Given the description of an element on the screen output the (x, y) to click on. 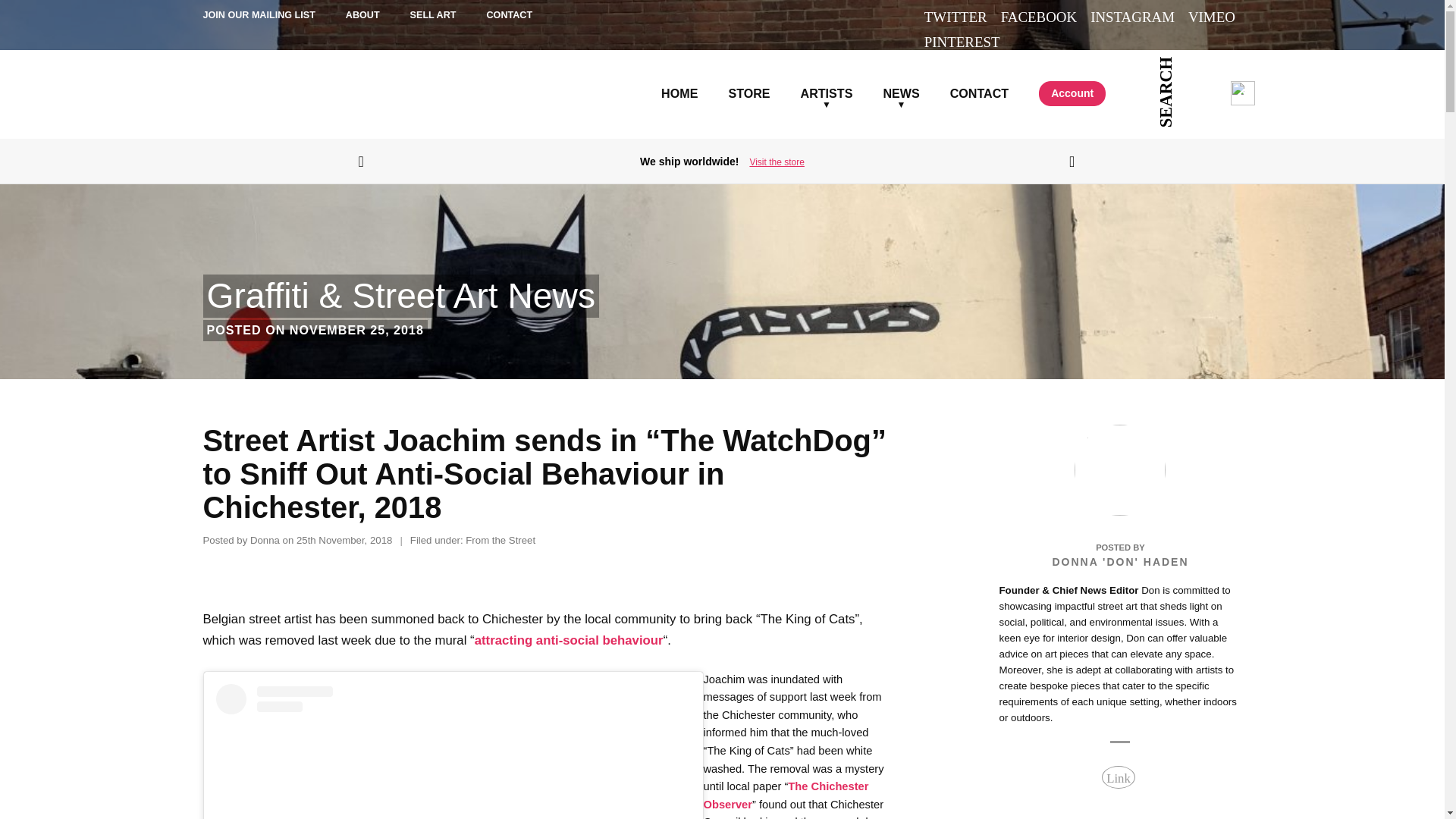
Posts by Donna (264, 540)
SELL ART (433, 15)
ABOUT (363, 15)
CONTACT (509, 15)
TWITTER (955, 17)
VIMEO (1211, 17)
FACEBOOK (1039, 17)
ARTISTS (826, 76)
INSTAGRAM (1132, 17)
GraffitiStreet (258, 93)
